Given the description of an element on the screen output the (x, y) to click on. 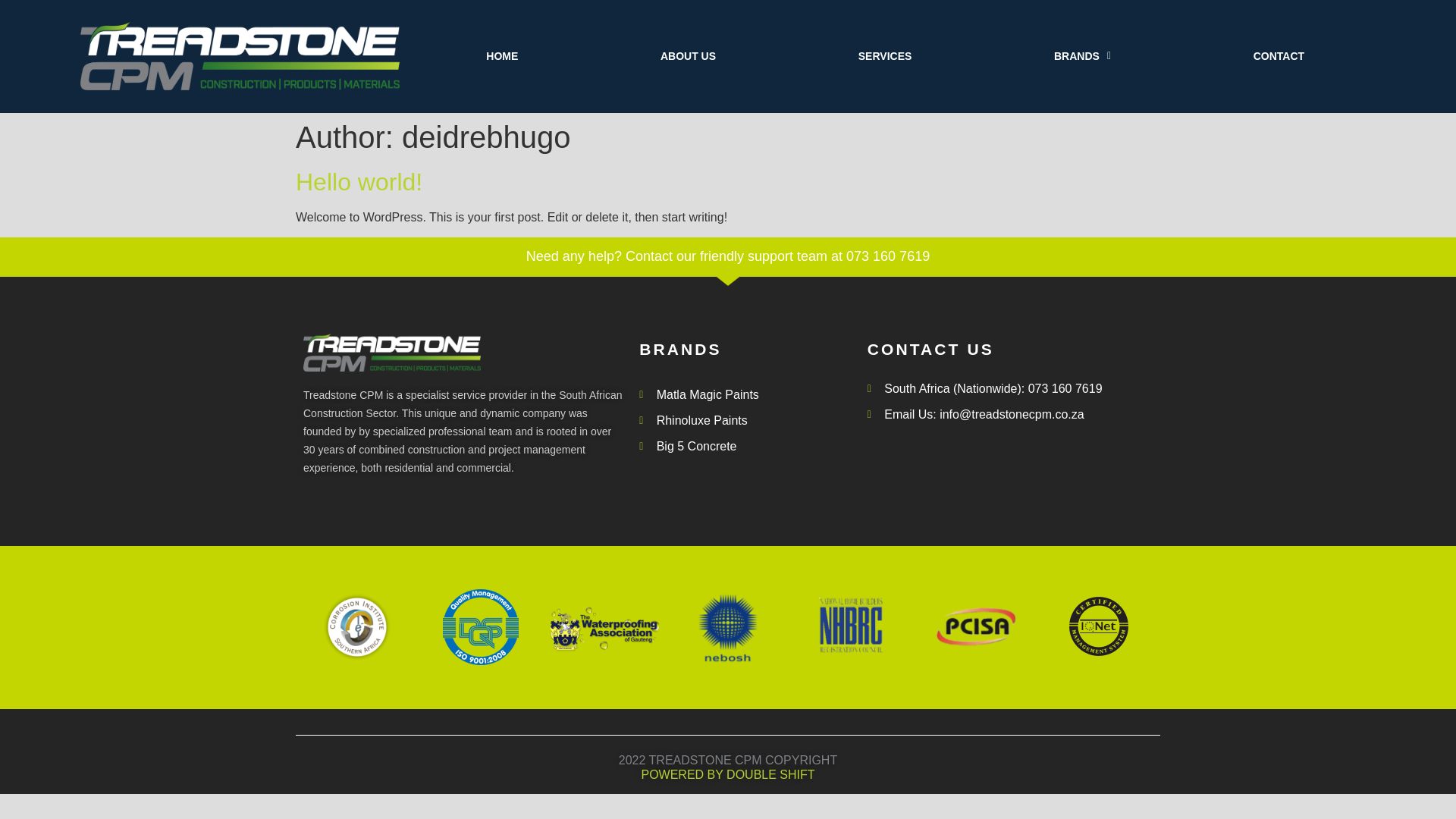
SERVICES (884, 55)
Rhinoluxe Paints (745, 420)
BRANDS (1082, 55)
cisa (356, 626)
Hello world! (358, 181)
Matla Magic Paints (745, 394)
Big 5 Concrete (745, 446)
POWERED BY DOUBLE SHIFT (726, 774)
CONTACT (1278, 55)
ABOUT US (688, 55)
dqs (480, 626)
HOME (501, 55)
wag (604, 626)
